Given the description of an element on the screen output the (x, y) to click on. 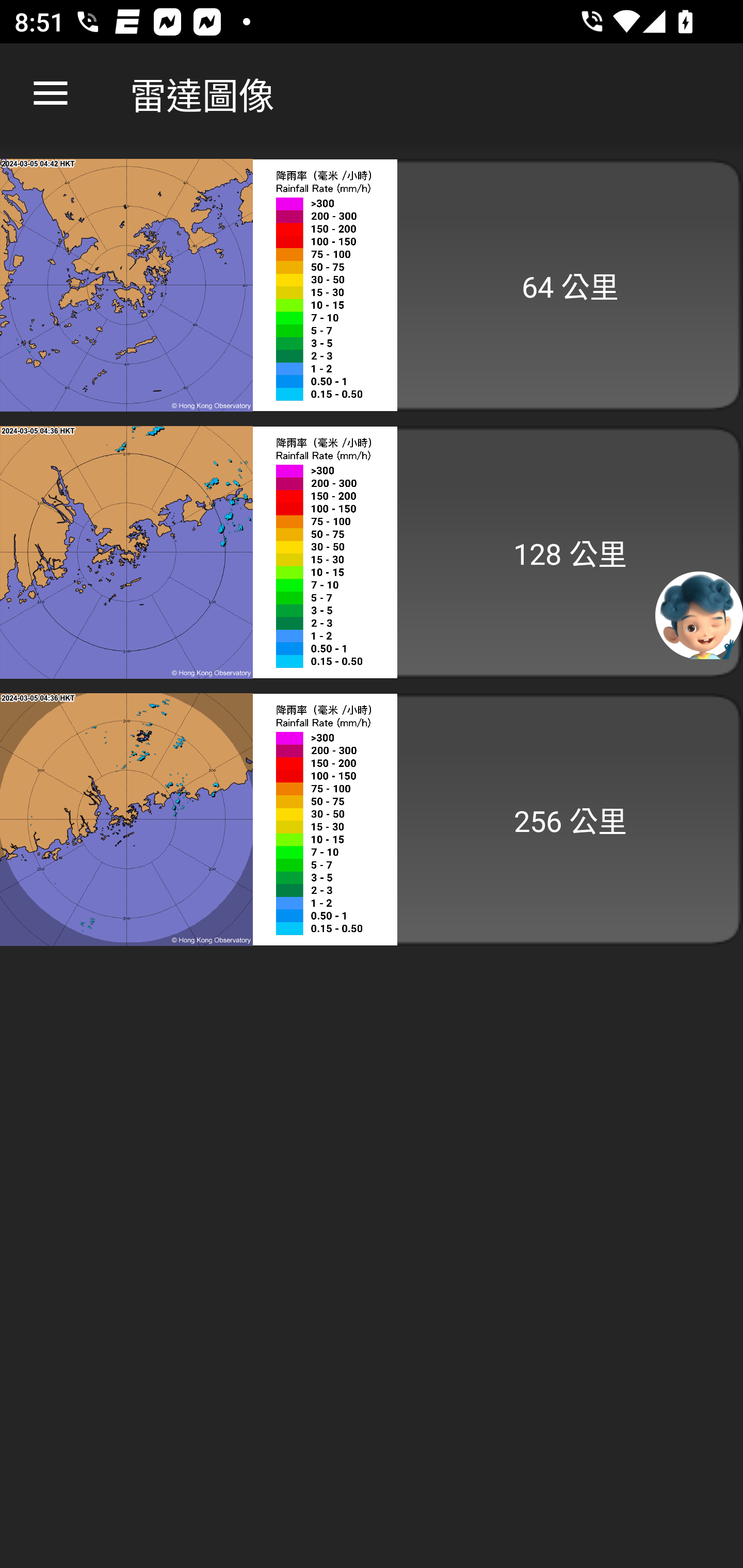
向上瀏覽 (50, 93)
64 公里 (371, 284)
128 公里 (371, 552)
聊天機械人 (699, 614)
256 公里 (371, 819)
